Given the description of an element on the screen output the (x, y) to click on. 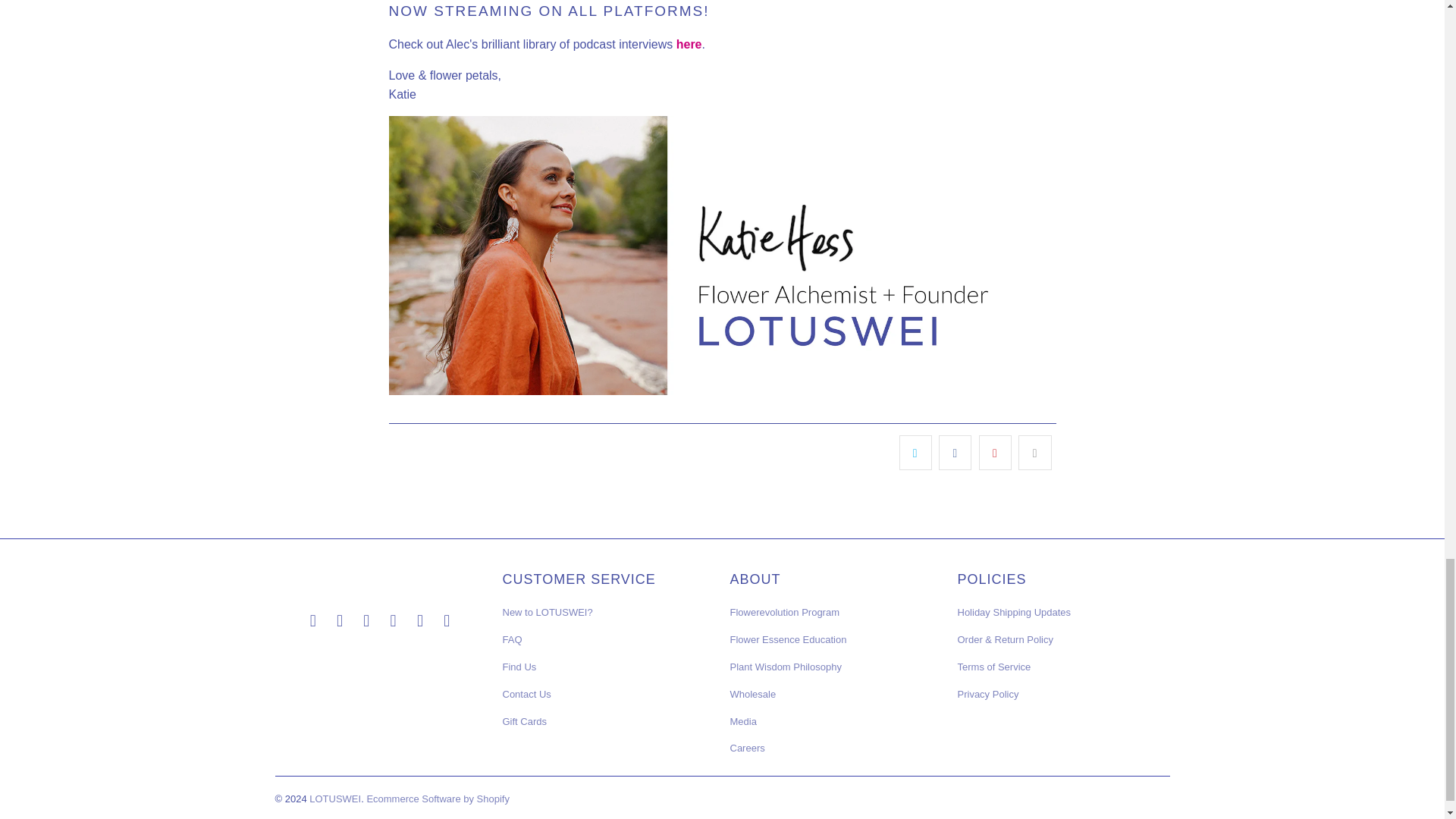
Email this to a friend (1034, 452)
Share this on Pinterest (994, 452)
Share this on Facebook (955, 452)
Share this on Twitter (915, 452)
